Given the description of an element on the screen output the (x, y) to click on. 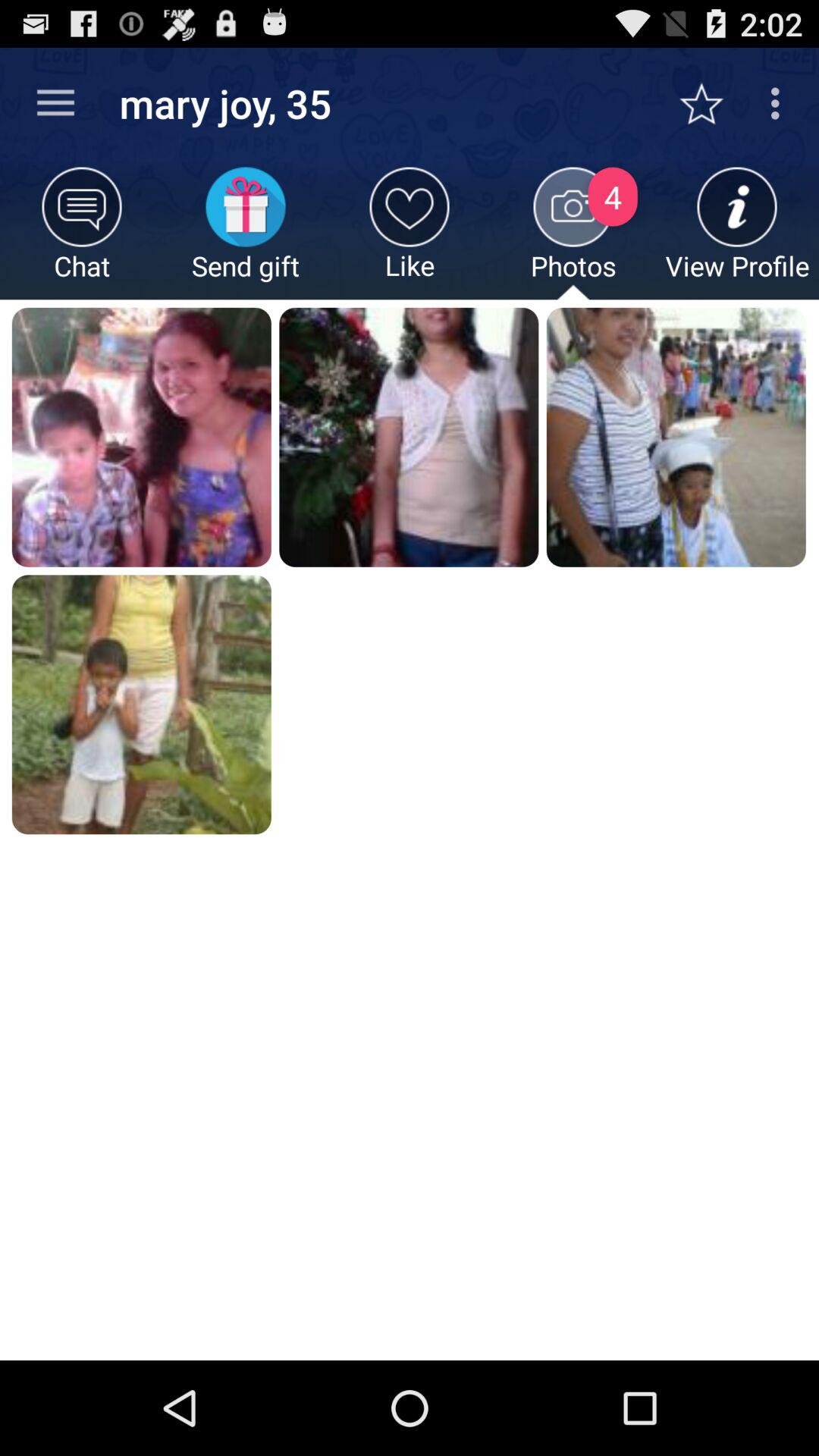
click on the view profiles (737, 233)
click on the button next to send gift (409, 233)
click on the button left to view profiles (573, 233)
click on the button next to star button (779, 103)
select the first image (141, 437)
select the star icon (709, 103)
